Given the description of an element on the screen output the (x, y) to click on. 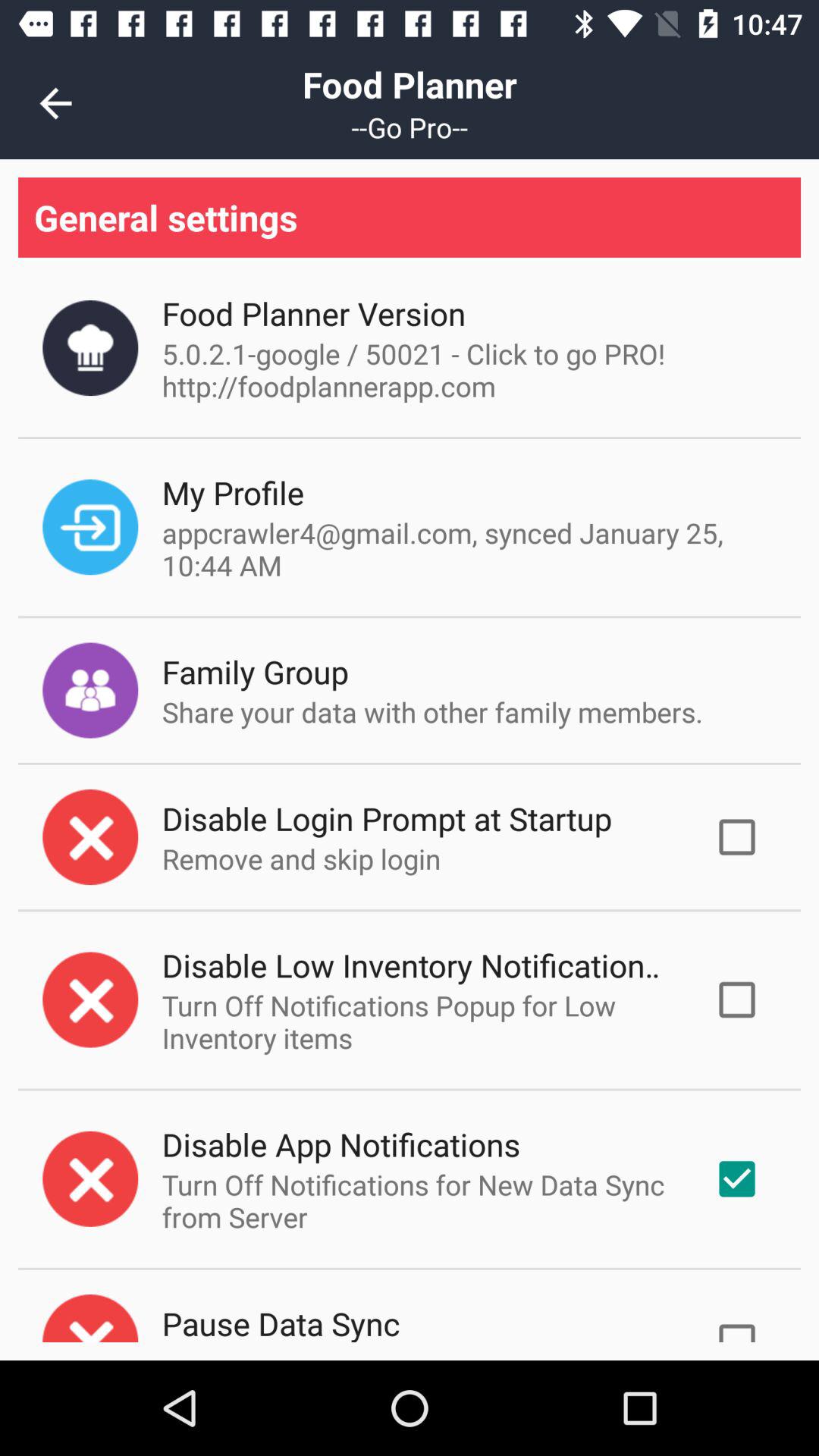
flip until the general settings (409, 217)
